Given the description of an element on the screen output the (x, y) to click on. 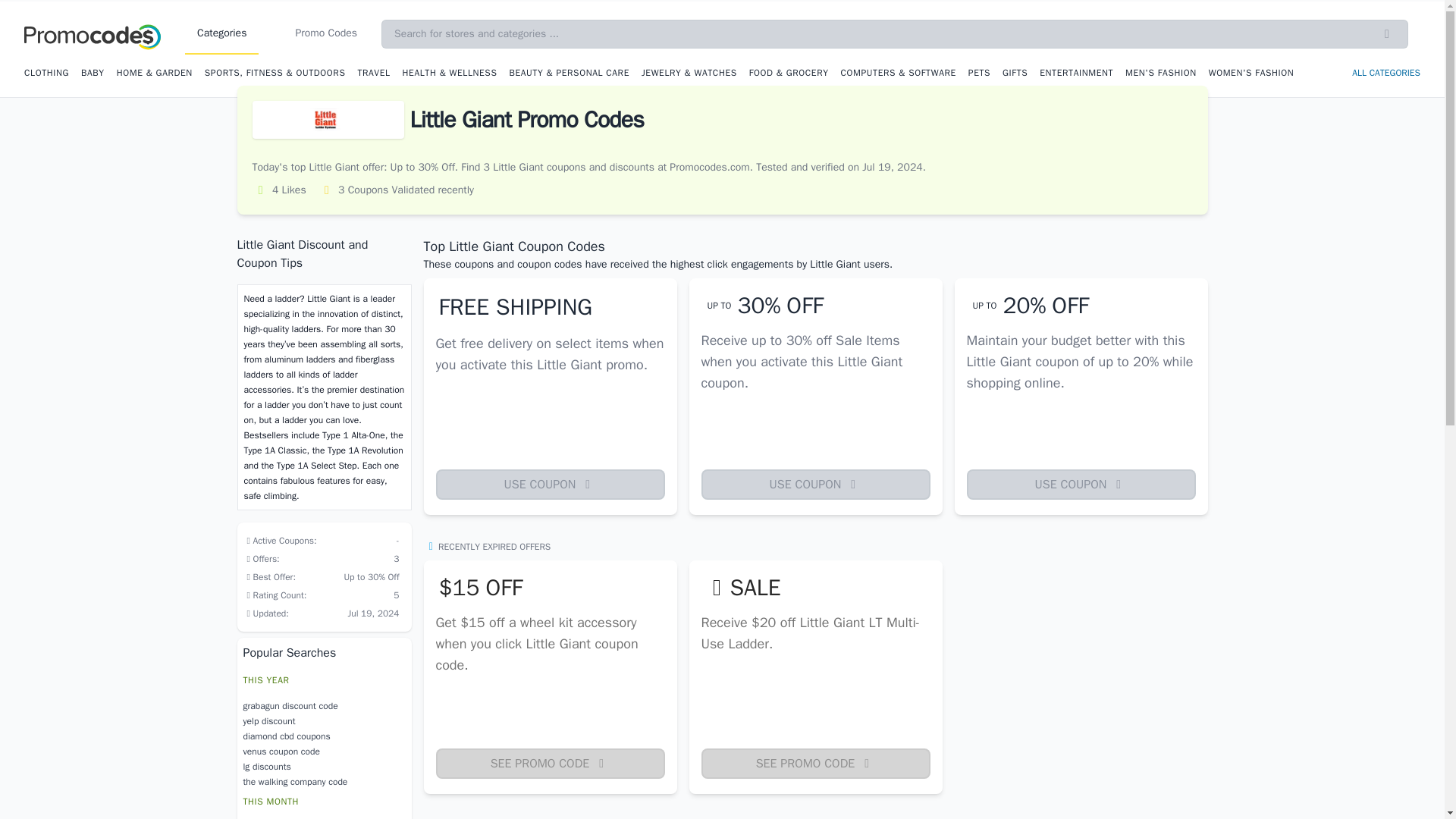
diamond cbd coupons (323, 735)
Promocodes.com (92, 33)
ENTERTAINMENT (1076, 72)
yelp discount (323, 720)
ALL CATEGORIES (1386, 72)
PETS (979, 72)
BABY (92, 72)
Search for stores and categories ... (894, 33)
GIFTS (1015, 72)
WOMEN'S FASHION (1251, 72)
Pets coupons (979, 72)
venus coupon code (323, 751)
Travel coupons (373, 72)
grabagun discount code (323, 705)
CLOTHING (46, 72)
